Given the description of an element on the screen output the (x, y) to click on. 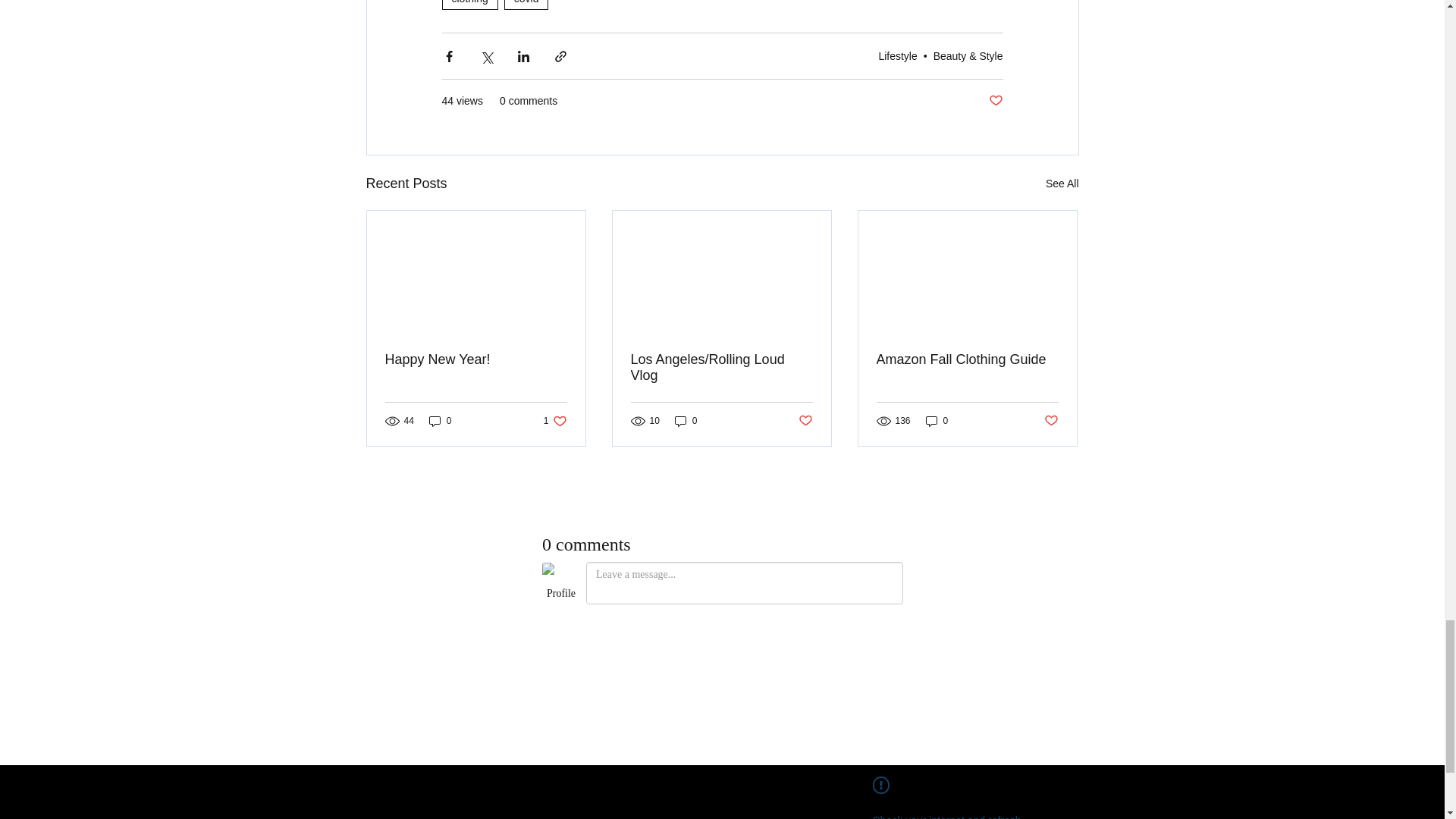
Lifestyle (897, 55)
Comments (721, 636)
clothing (469, 4)
covid (525, 4)
